Given the description of an element on the screen output the (x, y) to click on. 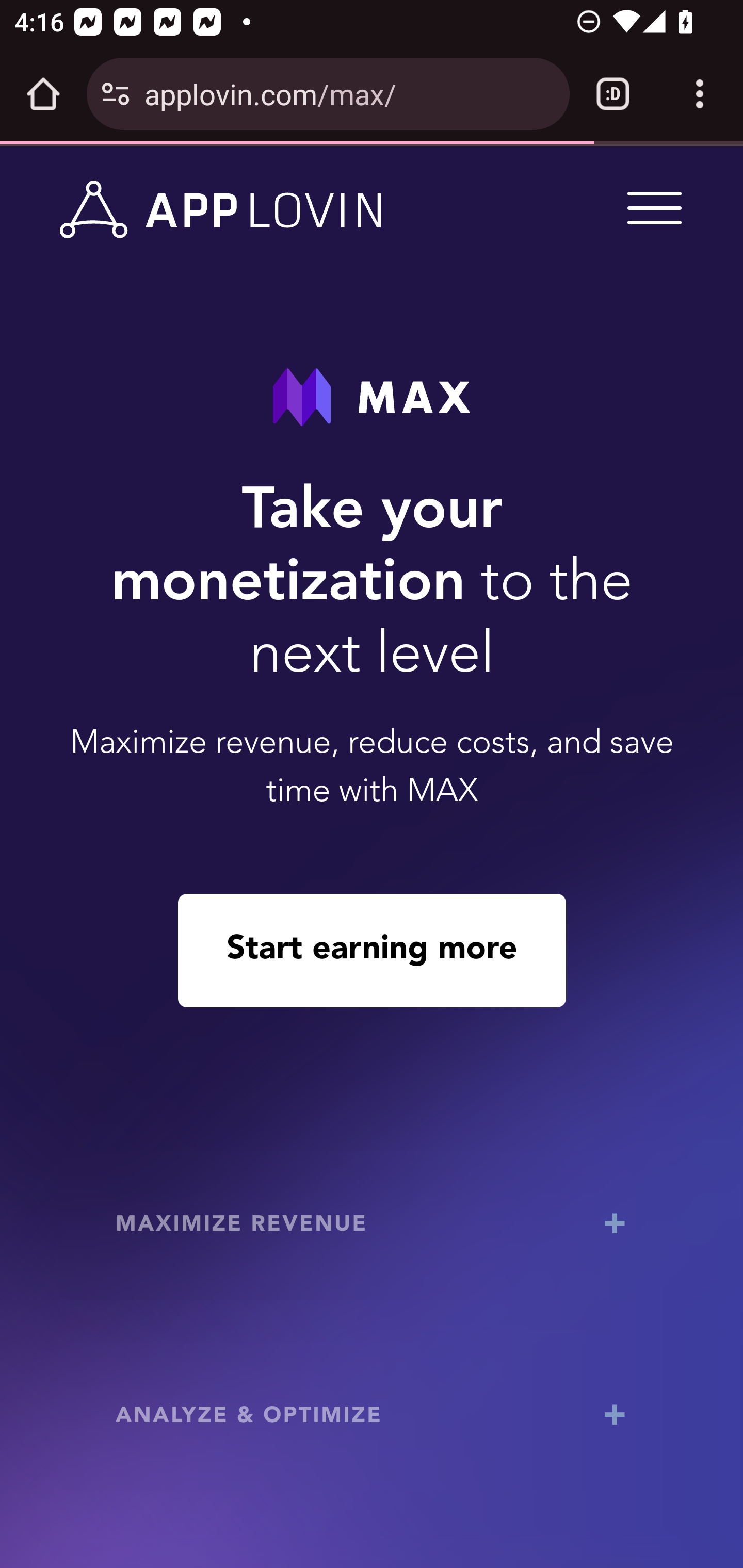
Open the home page (43, 93)
Connection is secure (115, 93)
Switch or close tabs (612, 93)
Customize and control Google Chrome (699, 93)
applovin.com/max/ (349, 92)
Menu Trigger (650, 207)
www.applovin (220, 209)
Start earning more (371, 950)
